Given the description of an element on the screen output the (x, y) to click on. 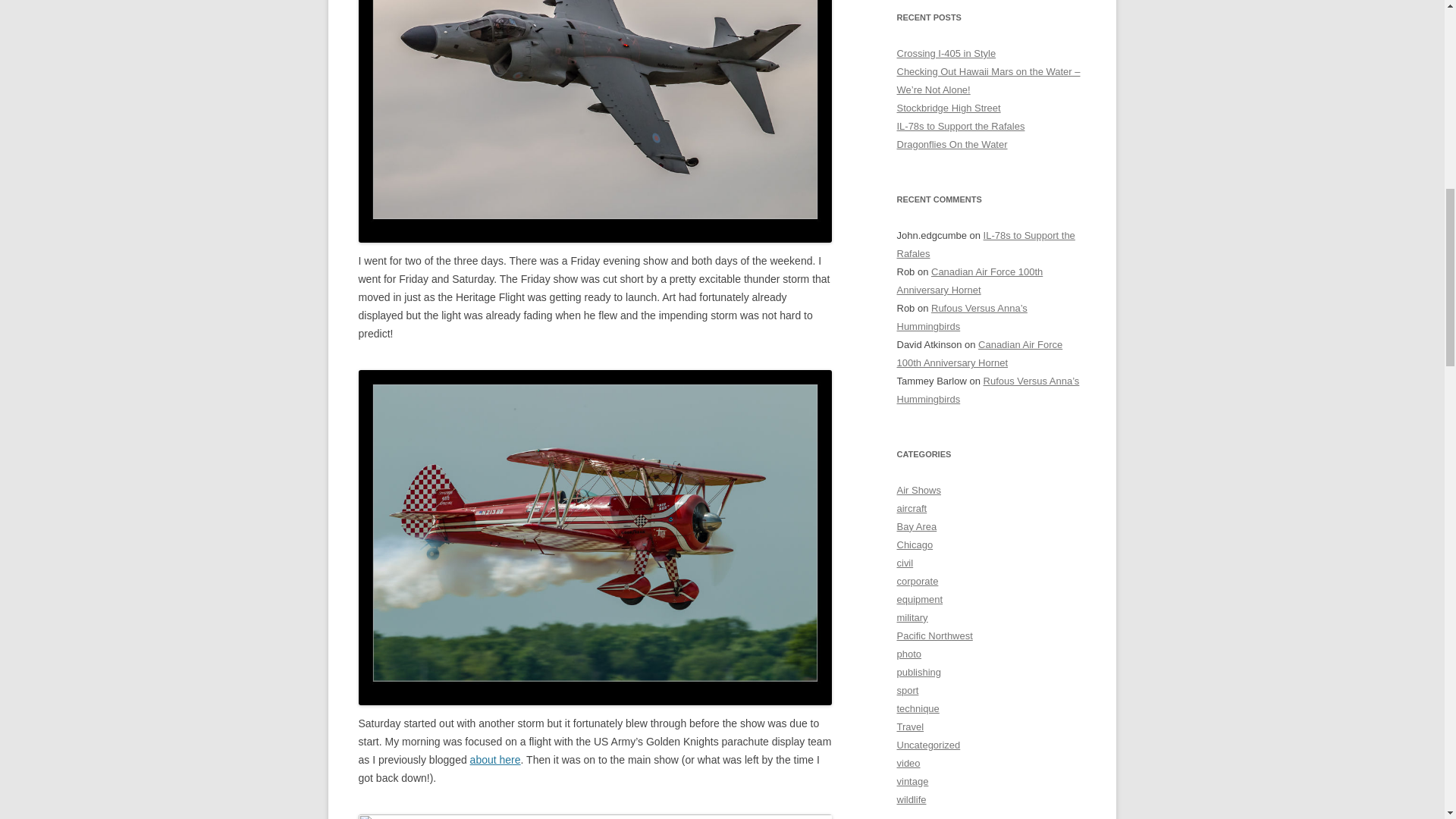
about here (495, 759)
Golden Knights (495, 759)
wpid4031-AU0E0479.jpg (594, 121)
